Given the description of an element on the screen output the (x, y) to click on. 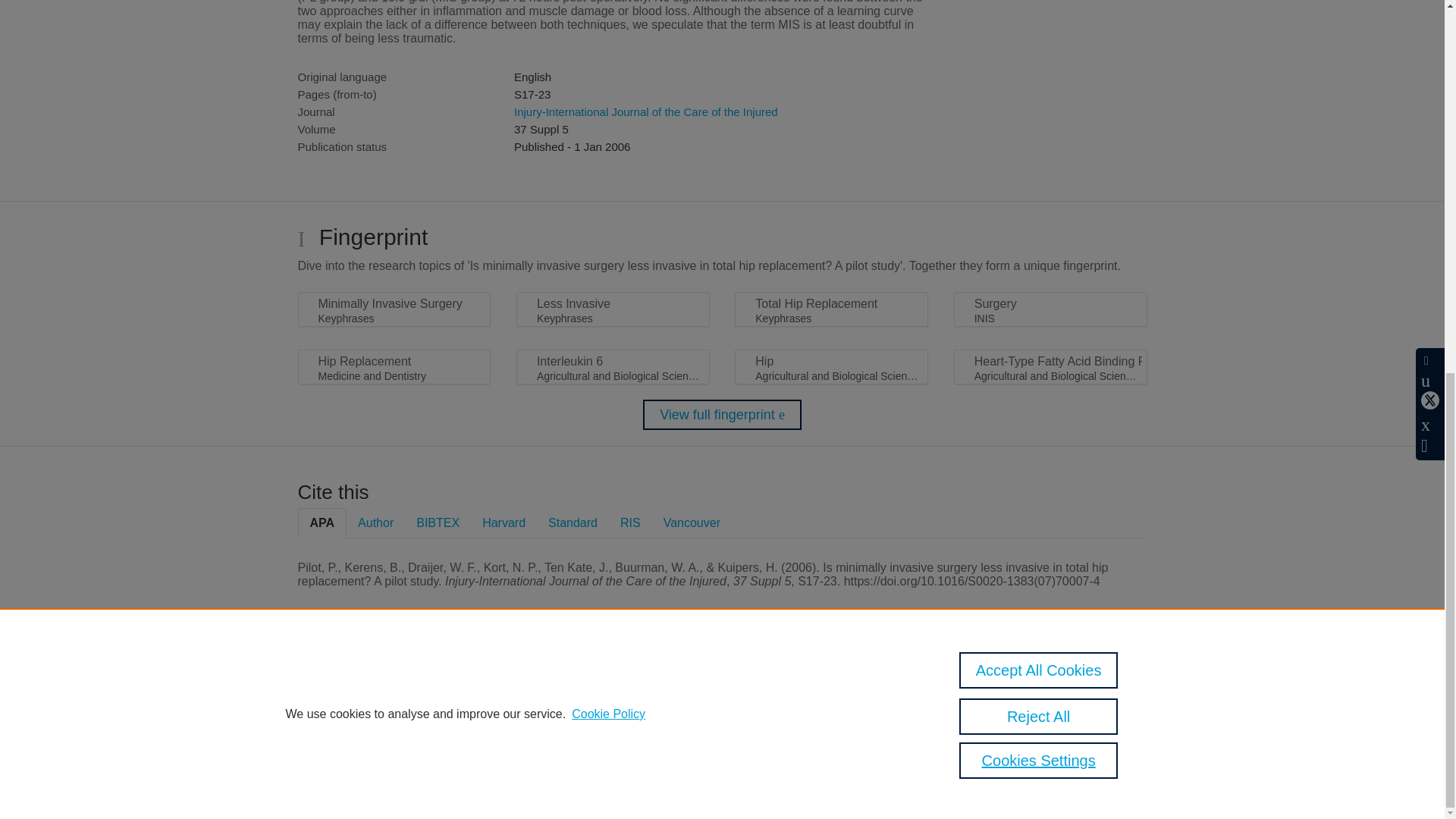
Scopus (394, 686)
Injury-International Journal of the Care of the Injured (645, 111)
Pure (362, 686)
View full fingerprint (722, 414)
Elsevier B.V. (506, 707)
